Given the description of an element on the screen output the (x, y) to click on. 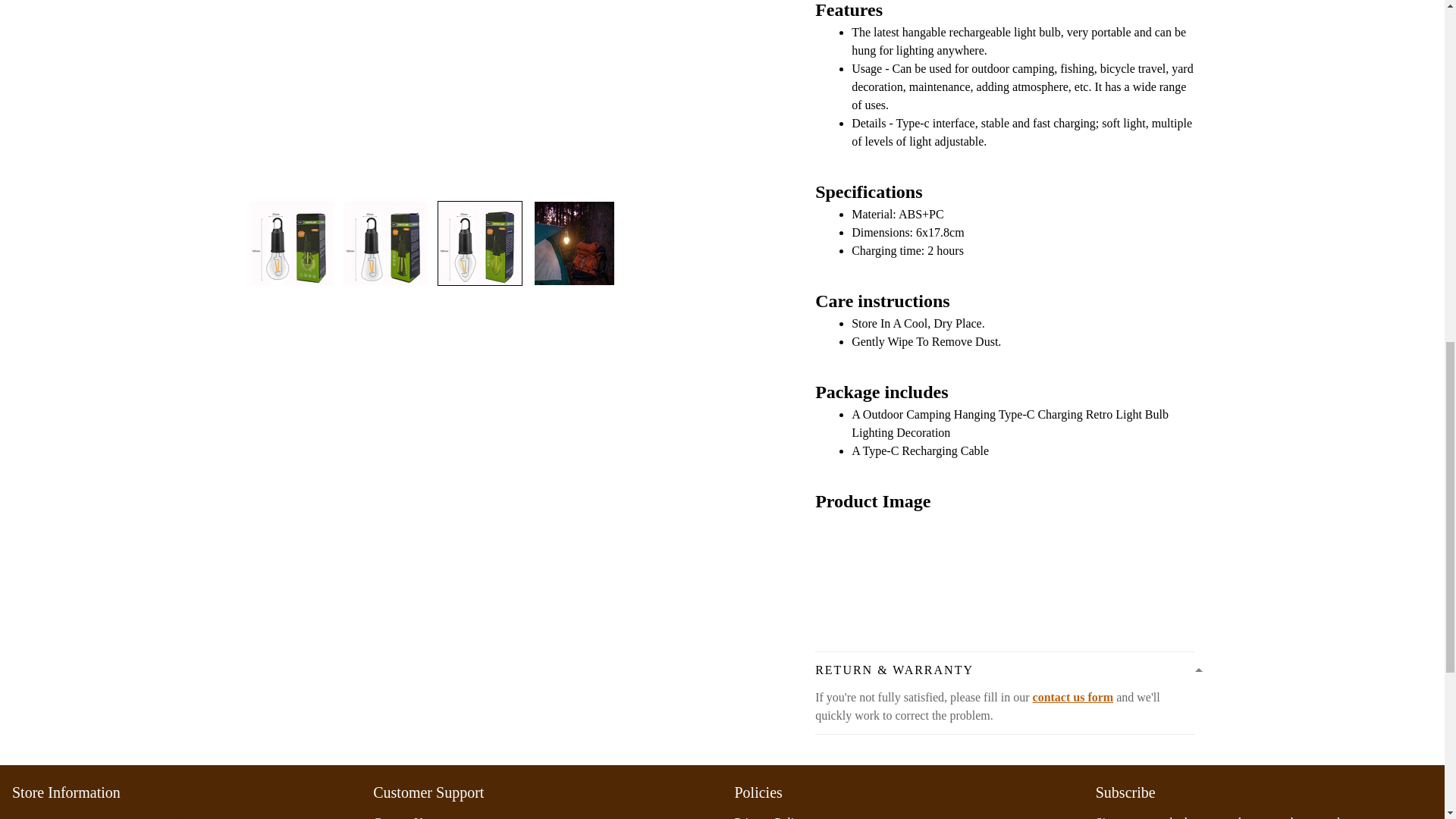
contact us form (1072, 697)
